Given the description of an element on the screen output the (x, y) to click on. 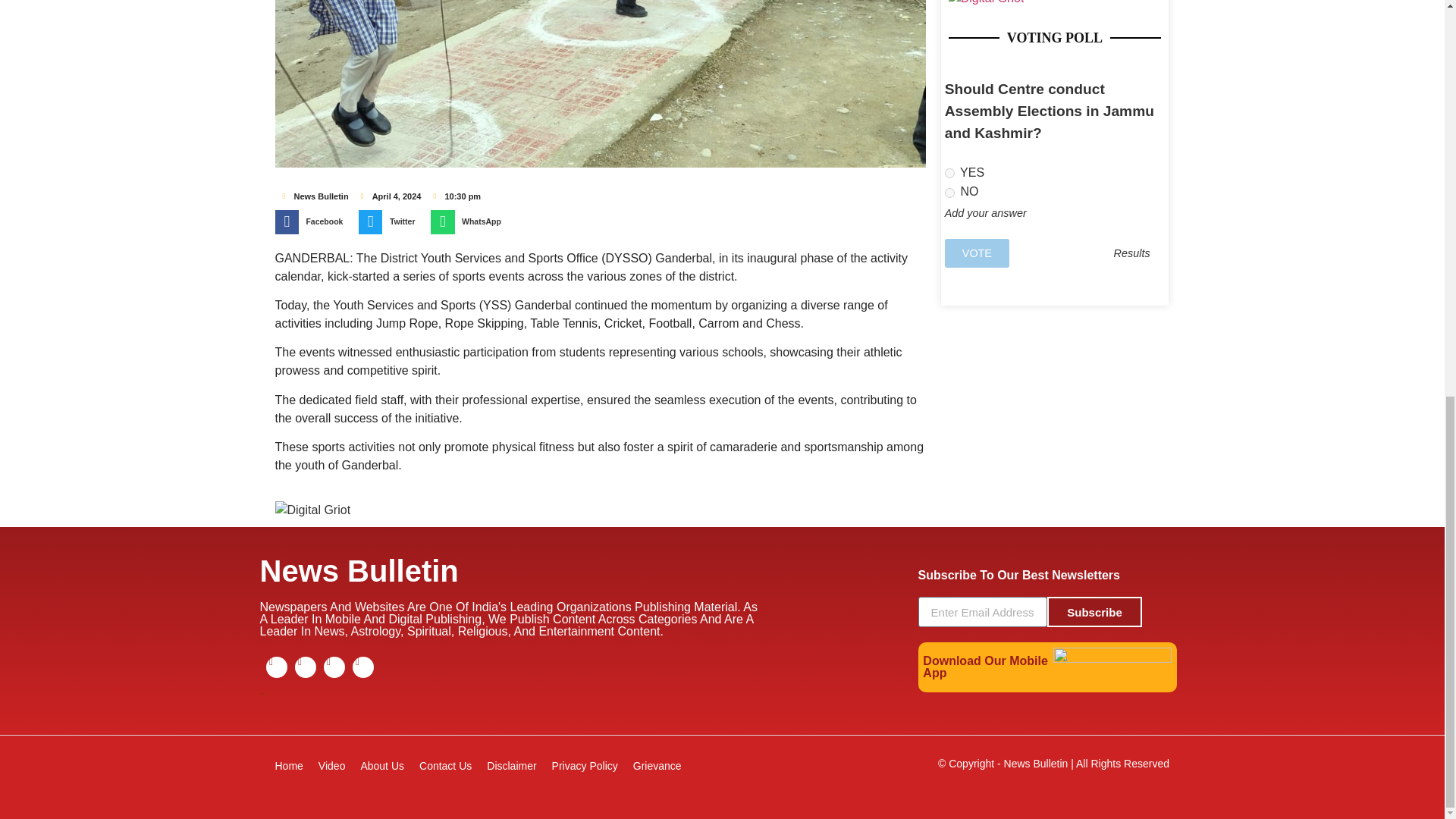
Vote (976, 252)
7 (949, 193)
6 (949, 173)
